Given the description of an element on the screen output the (x, y) to click on. 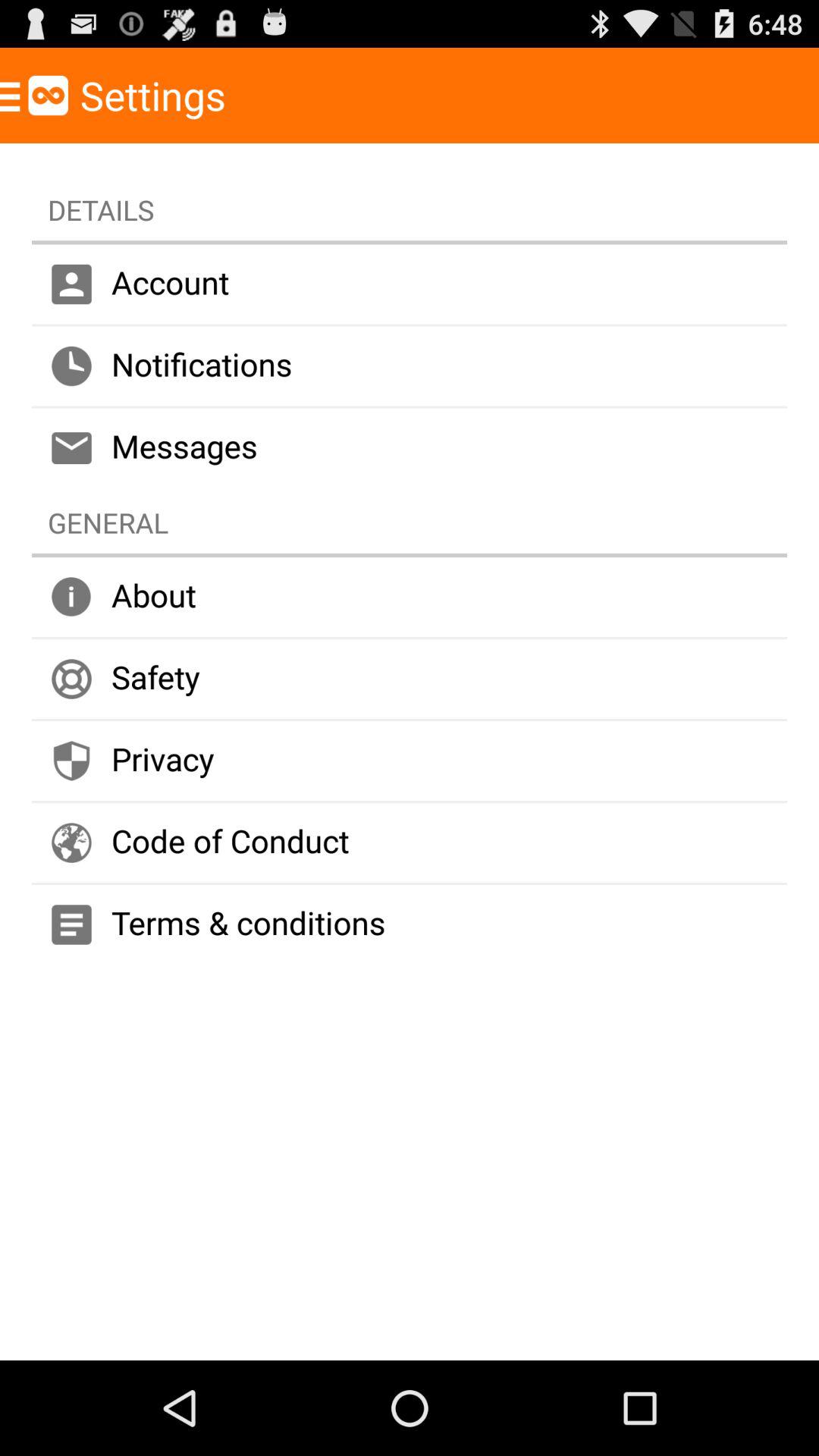
tap privacy icon (409, 760)
